Given the description of an element on the screen output the (x, y) to click on. 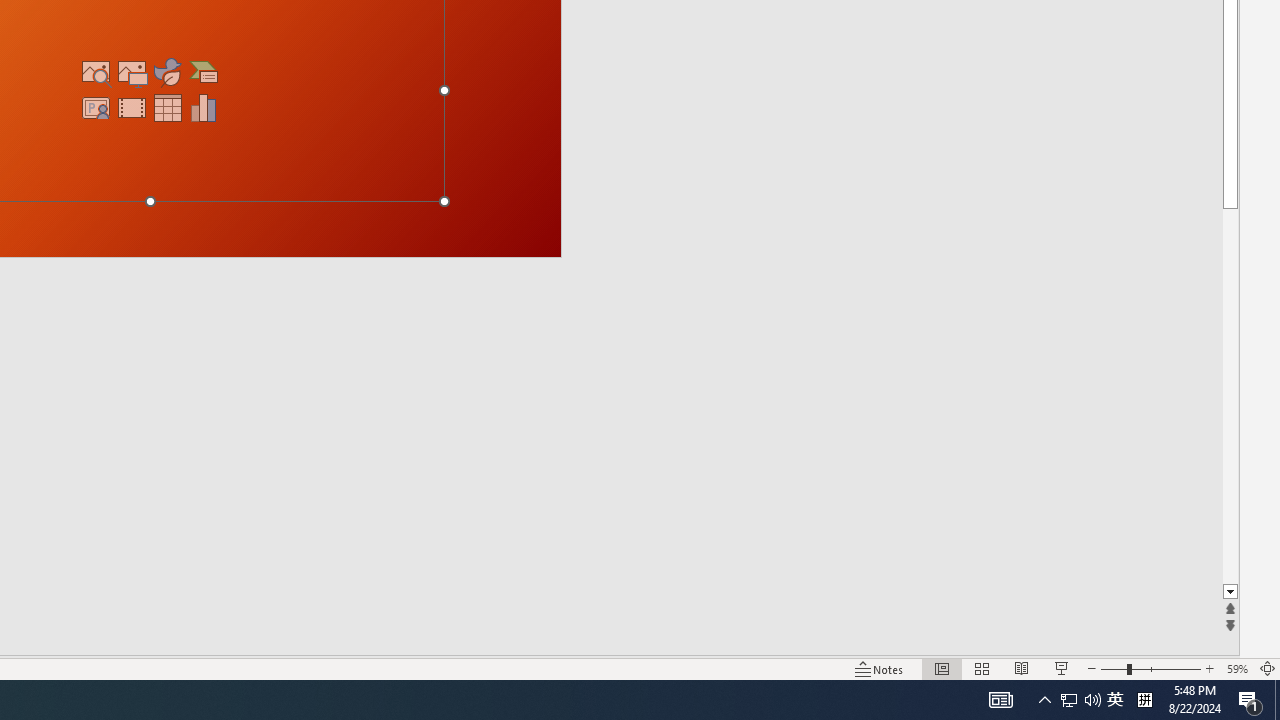
Insert an Icon (168, 71)
Insert Cameo (95, 107)
Insert Chart (204, 107)
Zoom 59% (1236, 668)
Stock Images (95, 71)
Page down (1230, 395)
